Given the description of an element on the screen output the (x, y) to click on. 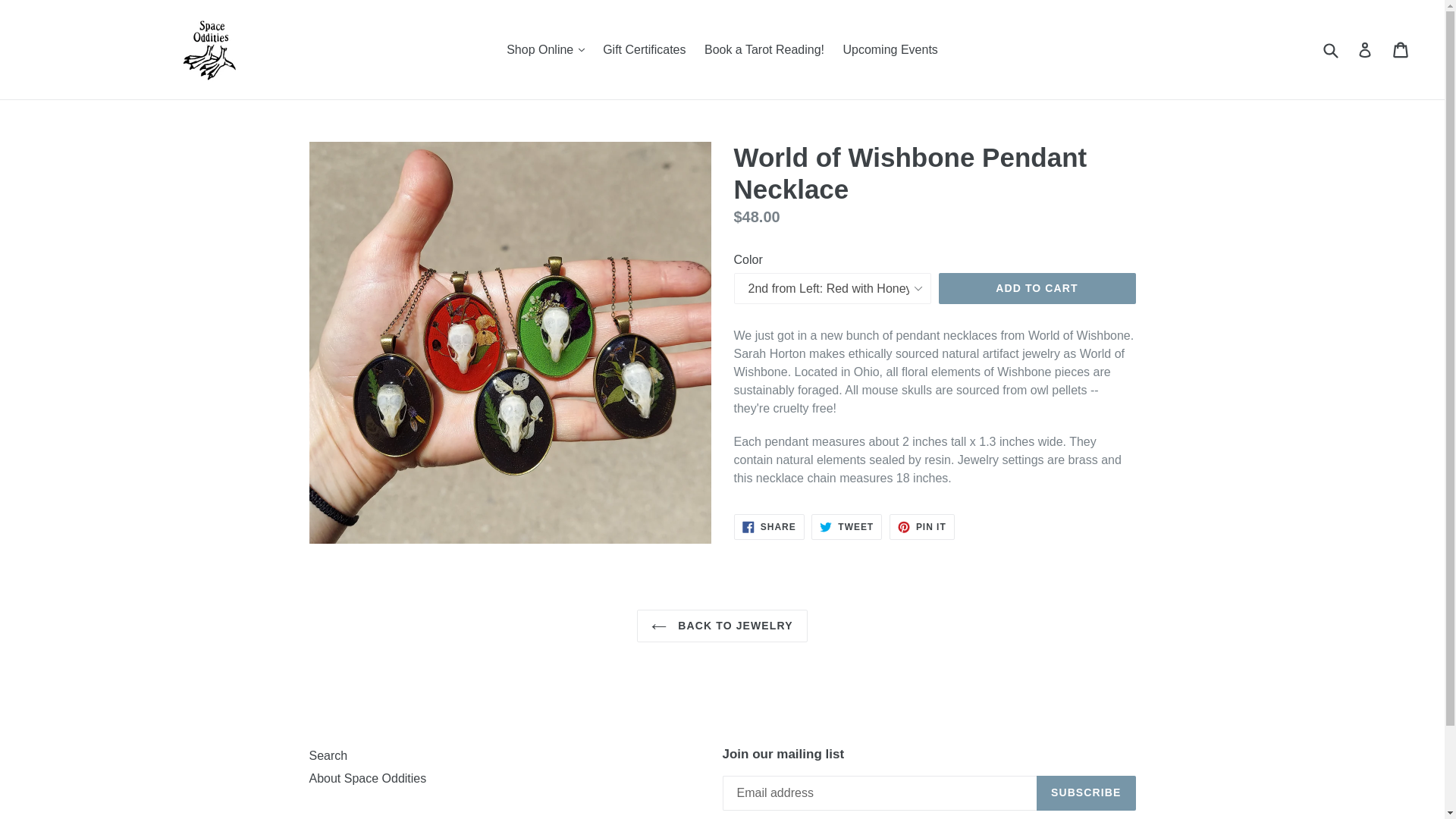
Upcoming Events (889, 48)
Pin on Pinterest (922, 526)
Gift Certificates (644, 48)
Share on Facebook (769, 526)
Tweet on Twitter (846, 526)
Book a Tarot Reading! (764, 48)
